Given the description of an element on the screen output the (x, y) to click on. 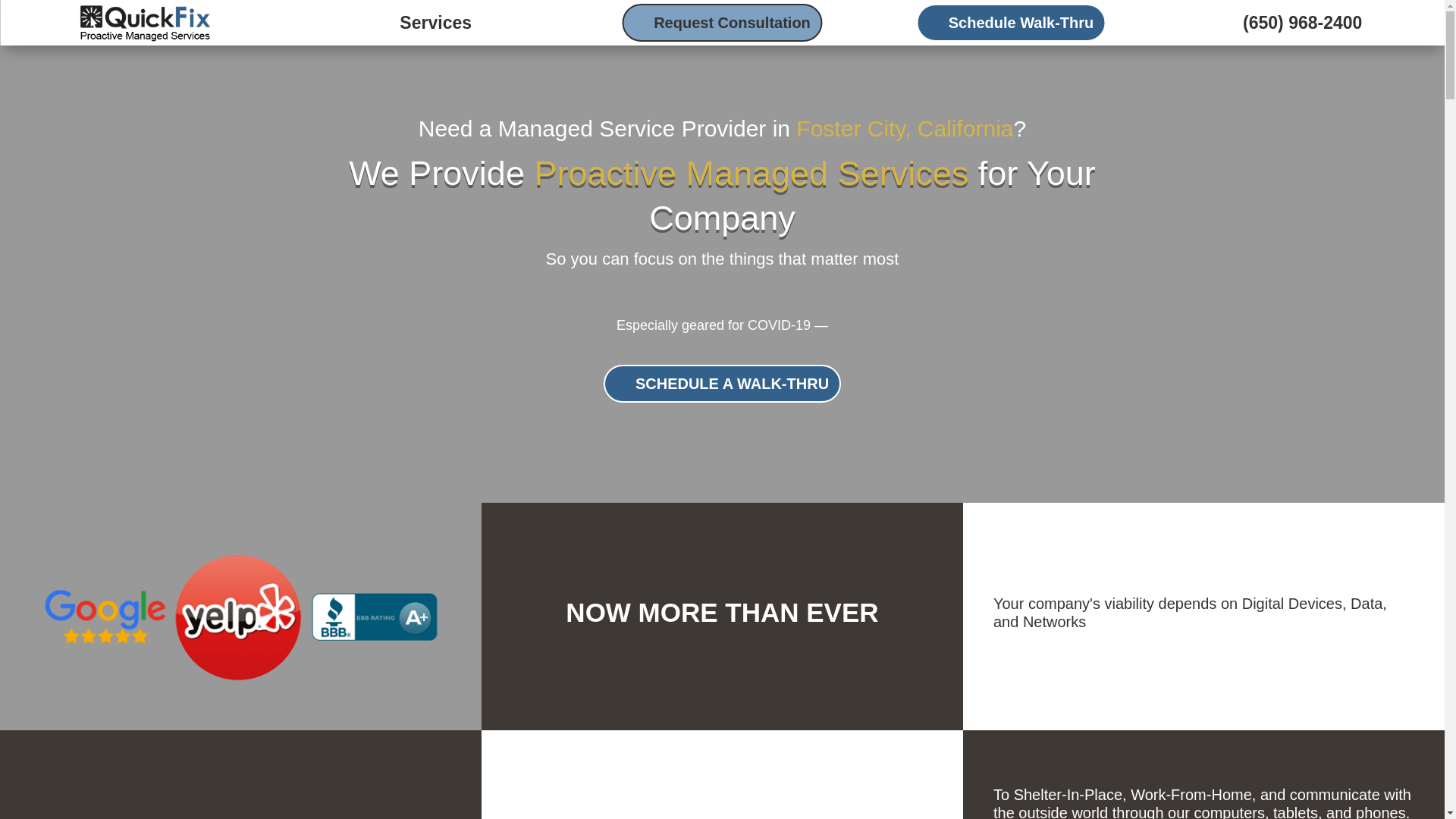
trsuted-by (240, 616)
SCHEDULE A WALK-THRU (722, 383)
qf-managed services - logo (144, 22)
Schedule Walk-Thru (1011, 22)
Request Consultation (721, 22)
